Given the description of an element on the screen output the (x, y) to click on. 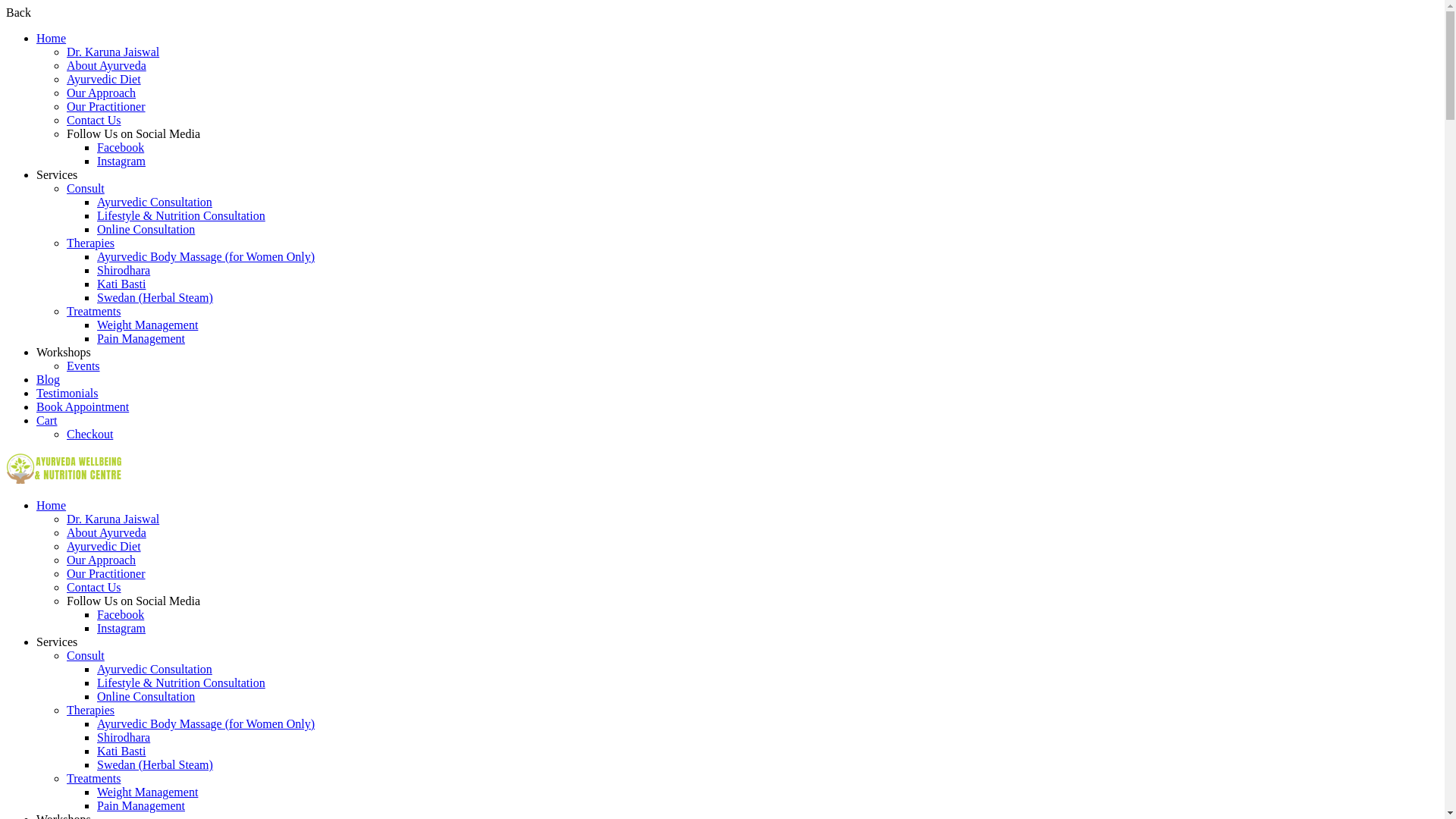
Kati Basti Element type: text (121, 750)
Consult Element type: text (85, 655)
Dr. Karuna Jaiswal Element type: text (112, 51)
Our Practitioner Element type: text (105, 106)
Workshops Element type: text (63, 351)
Contact Us Element type: text (93, 586)
Cart Element type: text (46, 420)
Follow Us on Social Media Element type: text (133, 133)
Ayurvedic Diet Element type: text (103, 78)
Checkout Element type: text (89, 433)
Blog Element type: text (47, 379)
Facebook Element type: text (120, 147)
Online Consultation Element type: text (145, 696)
Lifestyle & Nutrition Consultation Element type: text (181, 215)
Ayurvedic Body Massage (for Women Only) Element type: text (205, 256)
Therapies Element type: text (90, 242)
Swedan (Herbal Steam) Element type: text (155, 297)
Pain Management Element type: text (141, 805)
Swedan (Herbal Steam) Element type: text (155, 764)
Therapies Element type: text (90, 709)
Book Appointment Element type: text (82, 406)
Kati Basti Element type: text (121, 283)
Services Element type: text (56, 174)
Instagram Element type: text (121, 627)
Services Element type: text (56, 641)
Ayurvedic Consultation Element type: text (154, 668)
Events Element type: text (83, 365)
About Ayurveda Element type: text (106, 65)
Home Element type: text (50, 37)
Ayurvedic Consultation Element type: text (154, 201)
Weight Management Element type: text (147, 791)
Our Practitioner Element type: text (105, 573)
Facebook Element type: text (120, 614)
Instagram Element type: text (121, 160)
Contact Us Element type: text (93, 119)
Testimonials Element type: text (67, 392)
Our Approach Element type: text (100, 92)
Pain Management Element type: text (141, 338)
Consult Element type: text (85, 188)
Ayurvedic Diet Element type: text (103, 545)
Shirodhara Element type: text (123, 737)
Treatments Element type: text (93, 777)
Treatments Element type: text (93, 310)
Our Approach Element type: text (100, 559)
Shirodhara Element type: text (123, 269)
Ayurvedic Body Massage (for Women Only) Element type: text (205, 723)
Weight Management Element type: text (147, 324)
Home Element type: text (50, 504)
Dr. Karuna Jaiswal Element type: text (112, 518)
Lifestyle & Nutrition Consultation Element type: text (181, 682)
About Ayurveda Element type: text (106, 532)
Follow Us on Social Media Element type: text (133, 600)
Online Consultation Element type: text (145, 228)
